Given the description of an element on the screen output the (x, y) to click on. 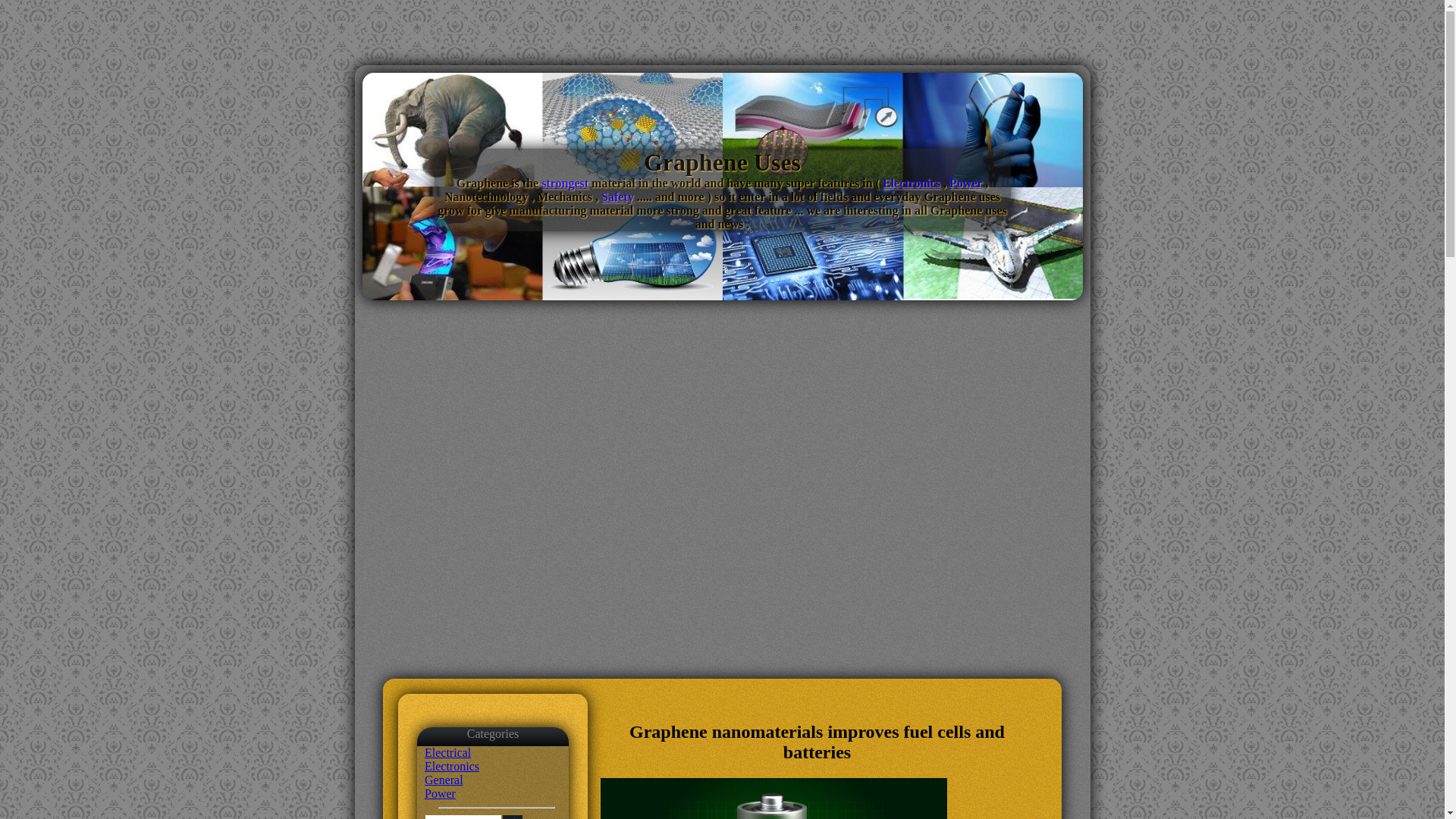
Power (440, 793)
Electronics (911, 182)
Electrical (447, 752)
strongest (564, 182)
General (444, 779)
Power (965, 182)
Advertisement (721, 524)
Safety (617, 196)
Electronics (452, 766)
